Given the description of an element on the screen output the (x, y) to click on. 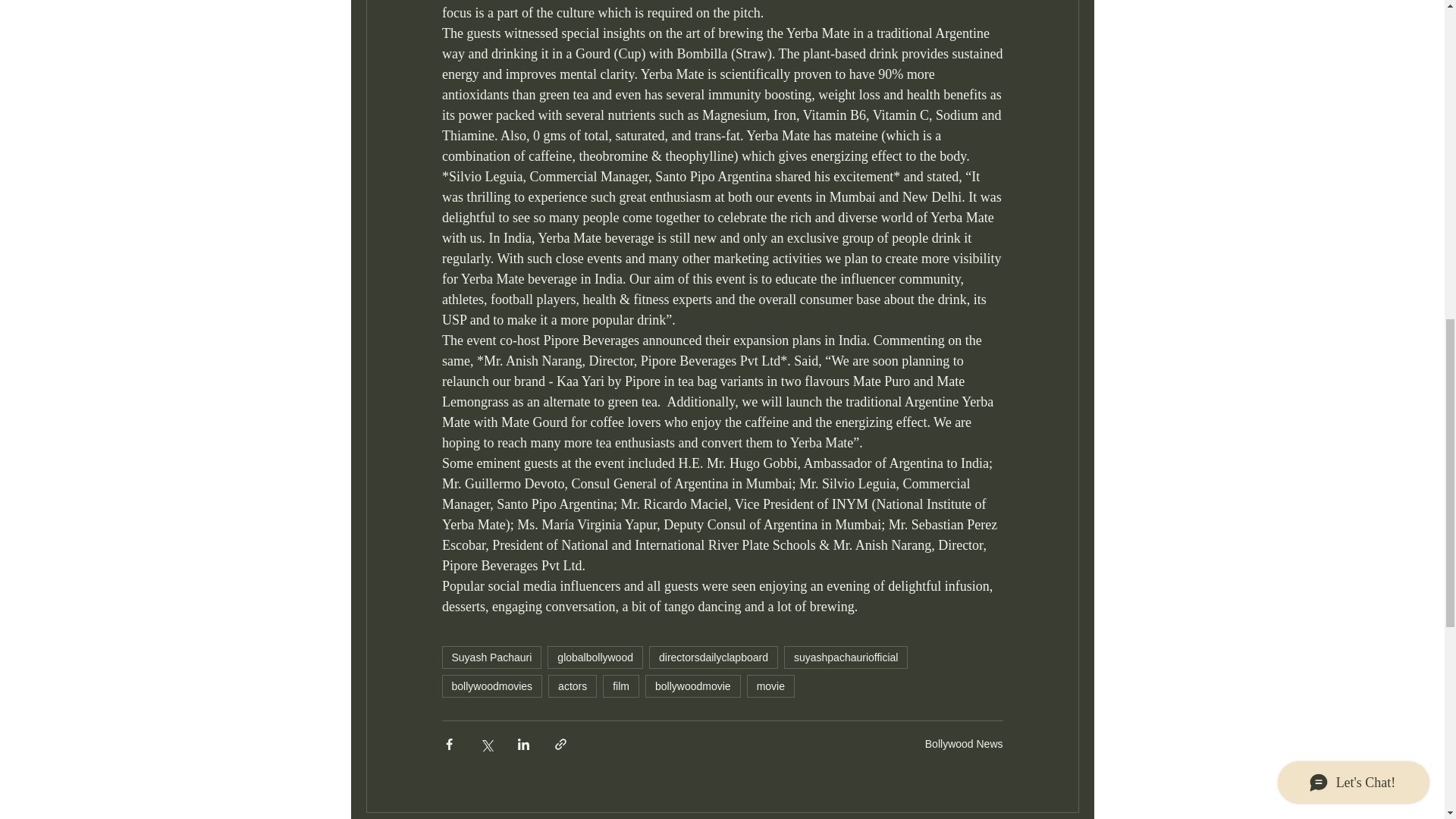
Bollywood News (963, 743)
film (620, 685)
suyashpachauriofficial (846, 657)
Suyash Pachauri (491, 657)
bollywoodmovie (693, 685)
directorsdailyclapboard (713, 657)
movie (770, 685)
actors (572, 685)
bollywoodmovies (491, 685)
globalbollywood (595, 657)
